Given the description of an element on the screen output the (x, y) to click on. 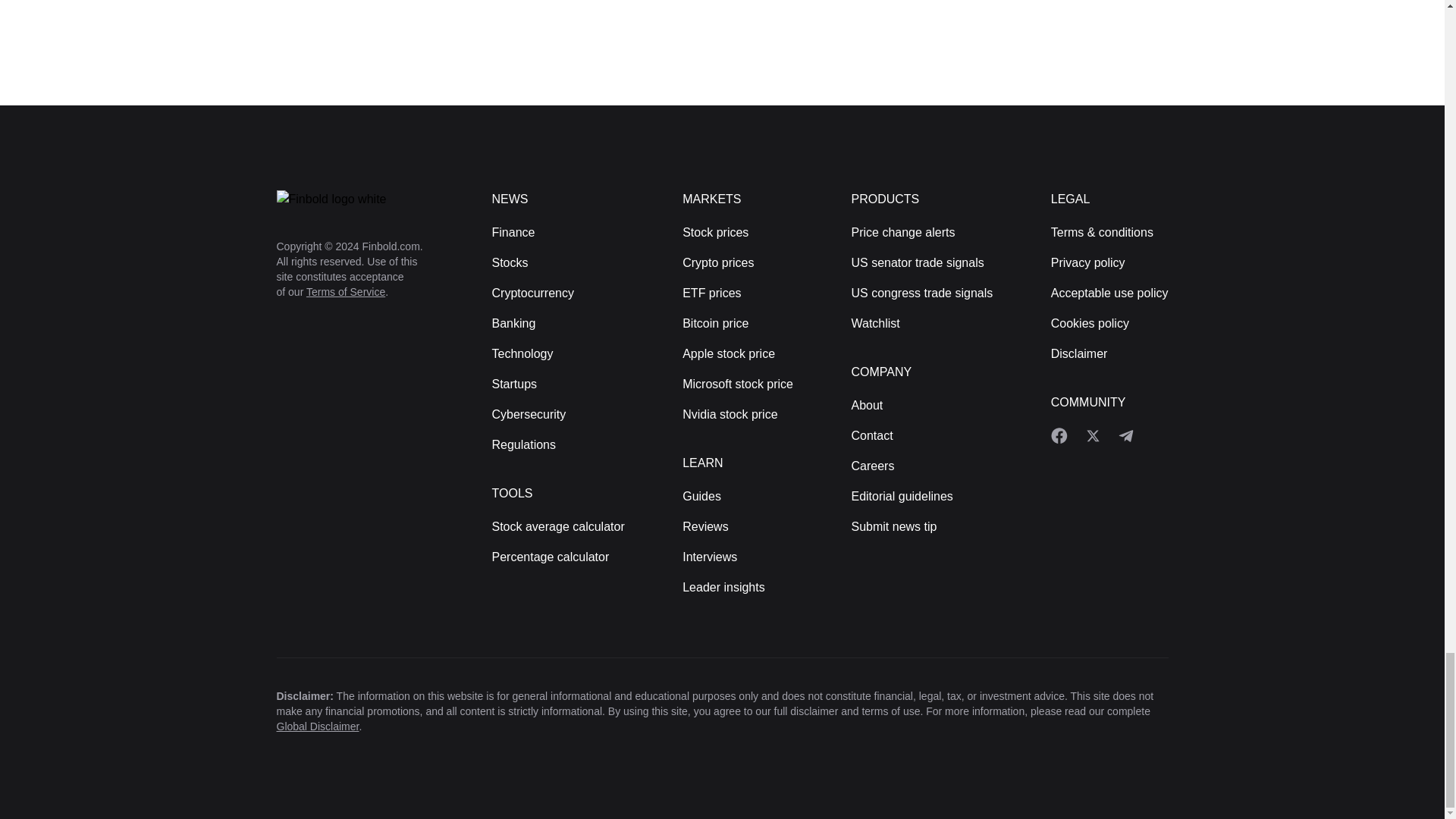
Finbold homepage (359, 199)
